Given the description of an element on the screen output the (x, y) to click on. 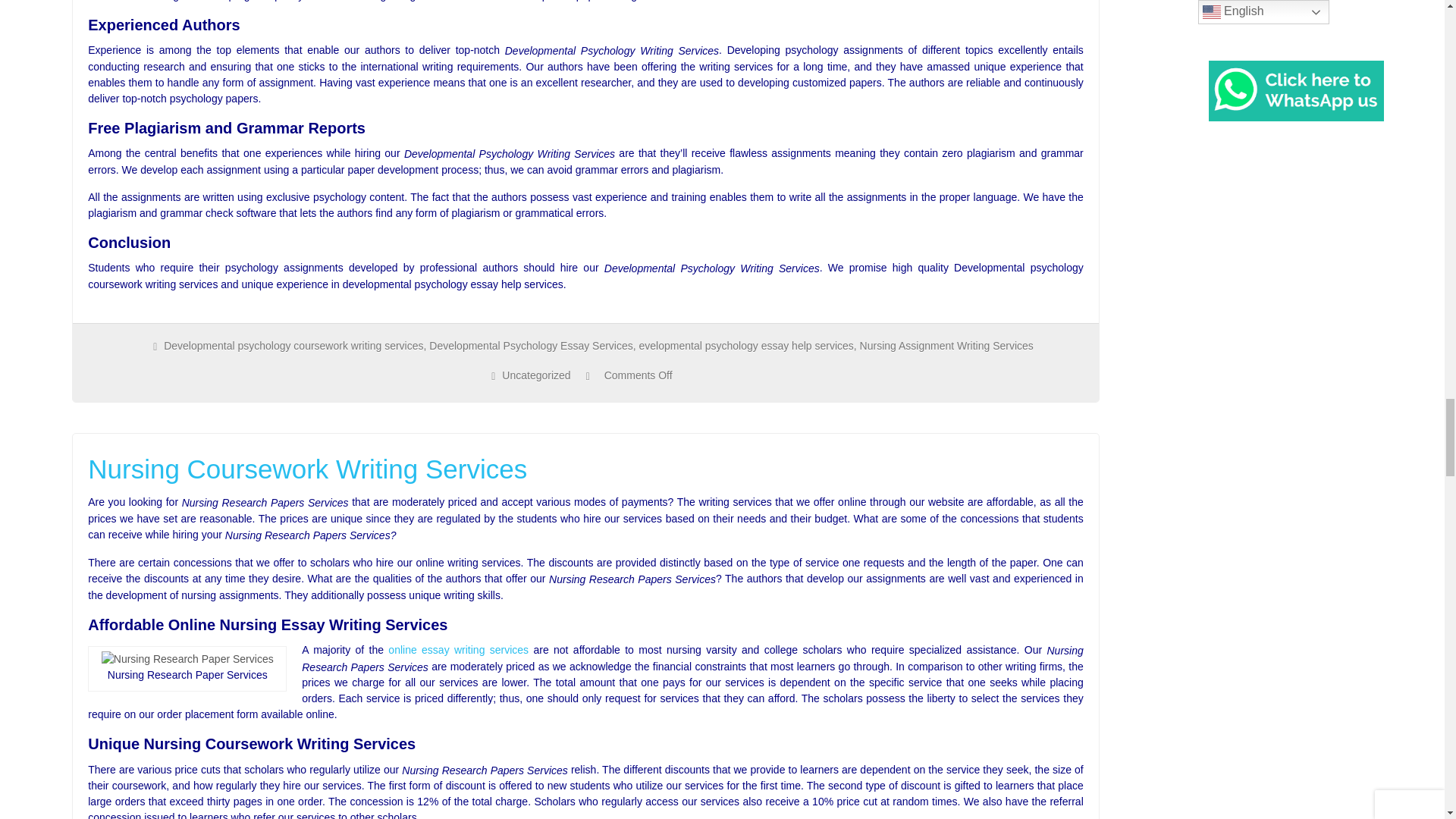
Developmental psychology coursework writing services (293, 345)
